Given the description of an element on the screen output the (x, y) to click on. 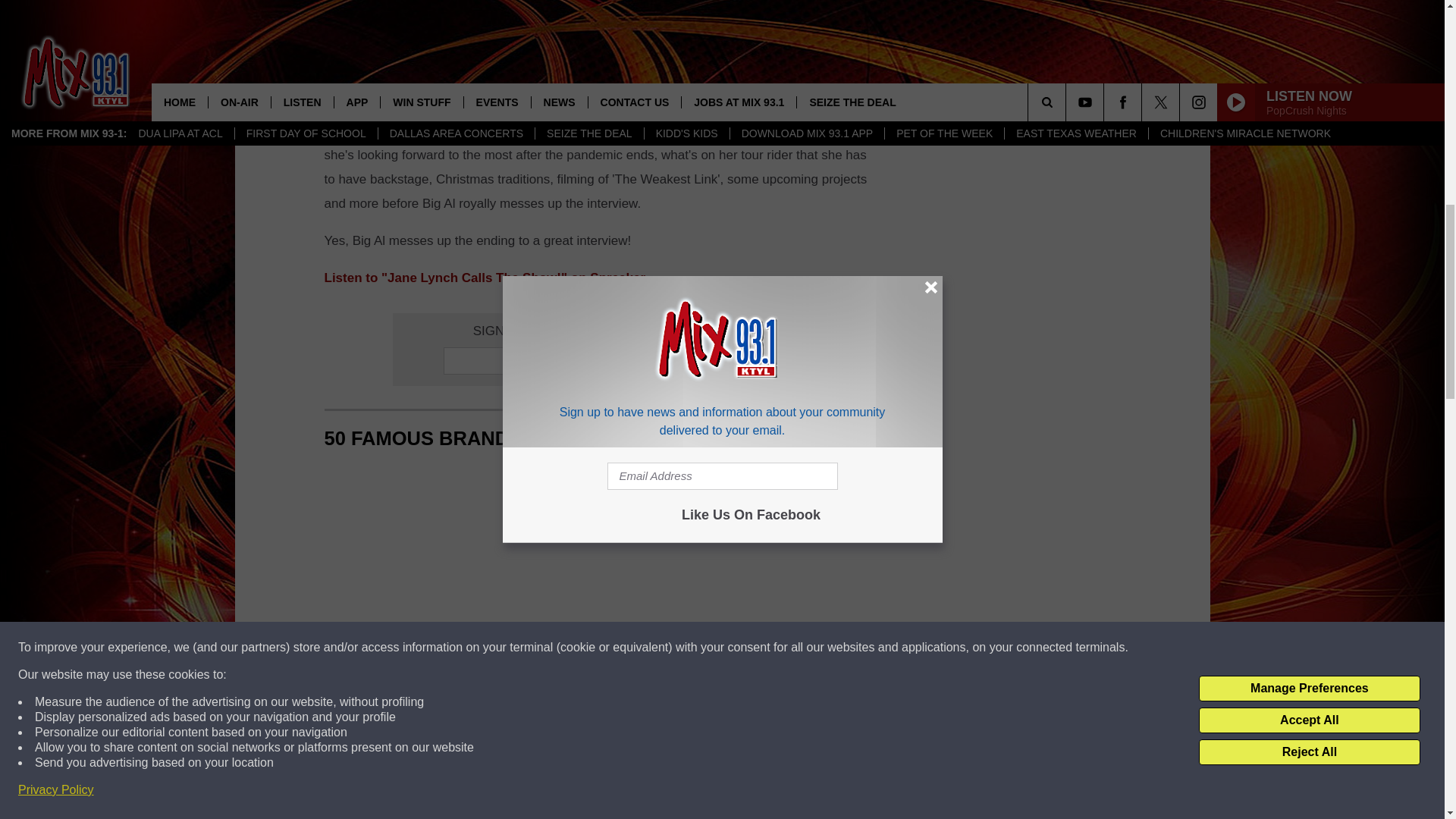
Email Address (600, 360)
